Given the description of an element on the screen output the (x, y) to click on. 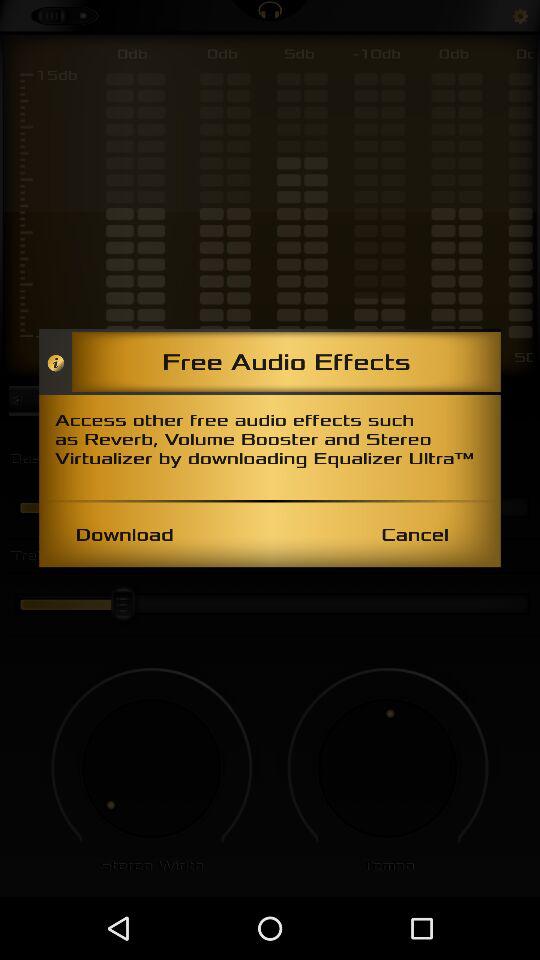
launch cancel on the right (414, 534)
